Given the description of an element on the screen output the (x, y) to click on. 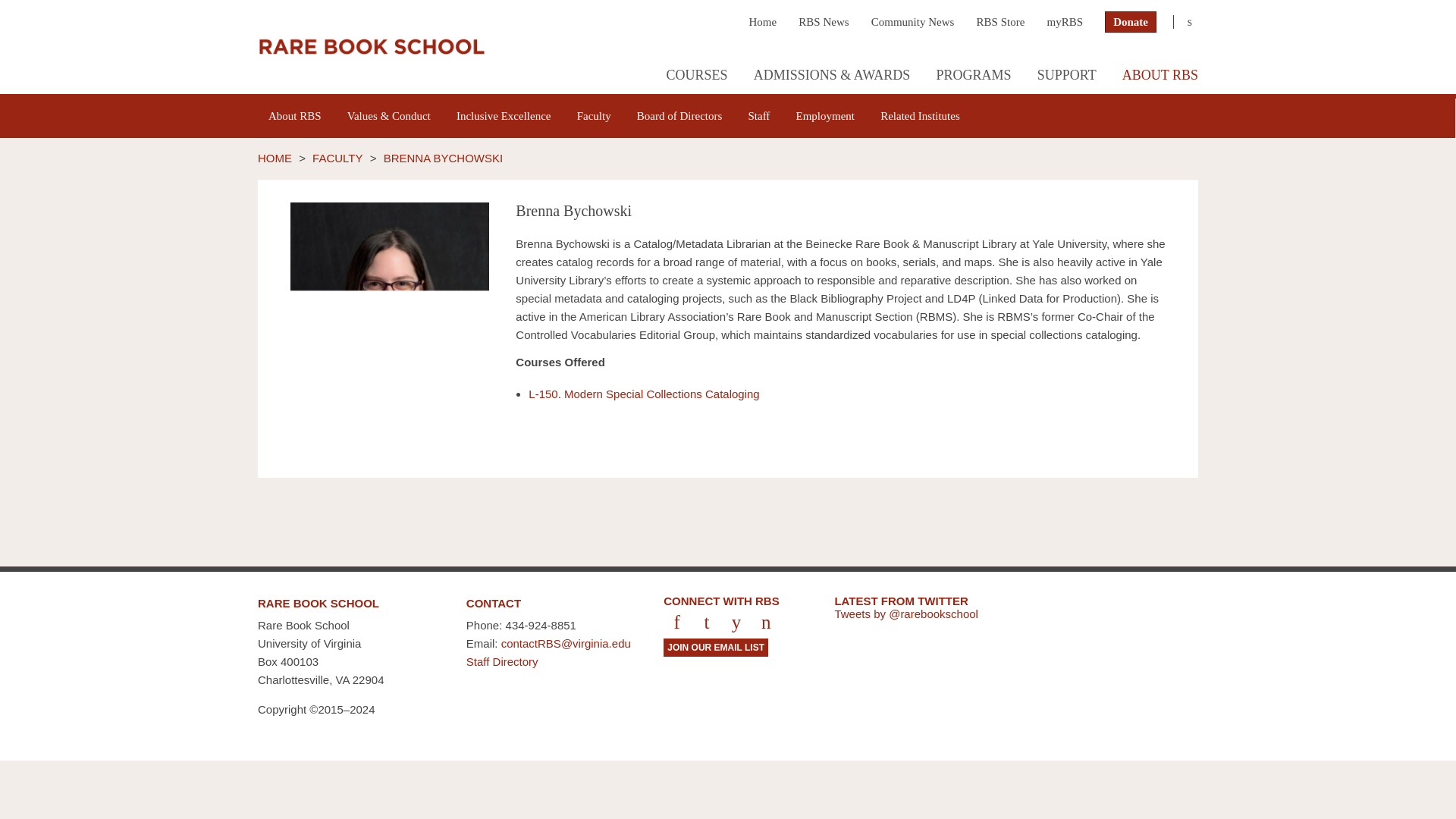
About RBS (295, 118)
RBS Store (1000, 21)
myRBS (1064, 21)
Go to Faculty. (337, 157)
Rare Book School (370, 46)
Faculty (594, 118)
Go to Rare Book School. (274, 157)
PROGRAMS (973, 77)
Home (762, 21)
Go to Brenna Bychowski. (443, 157)
